Given the description of an element on the screen output the (x, y) to click on. 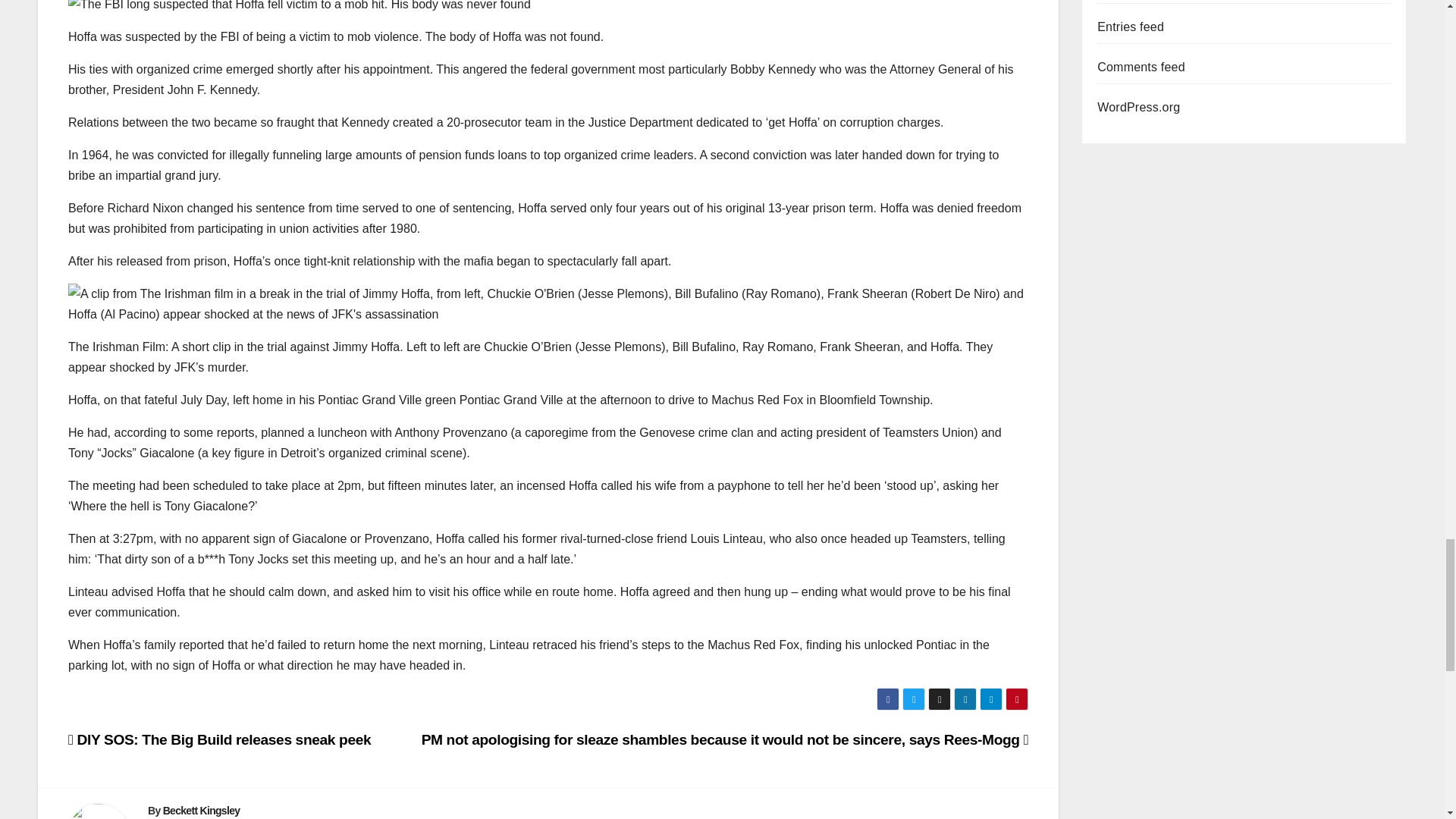
Beckett Kingsley (201, 810)
DIY SOS: The Big Build releases sneak peek (219, 739)
